Given the description of an element on the screen output the (x, y) to click on. 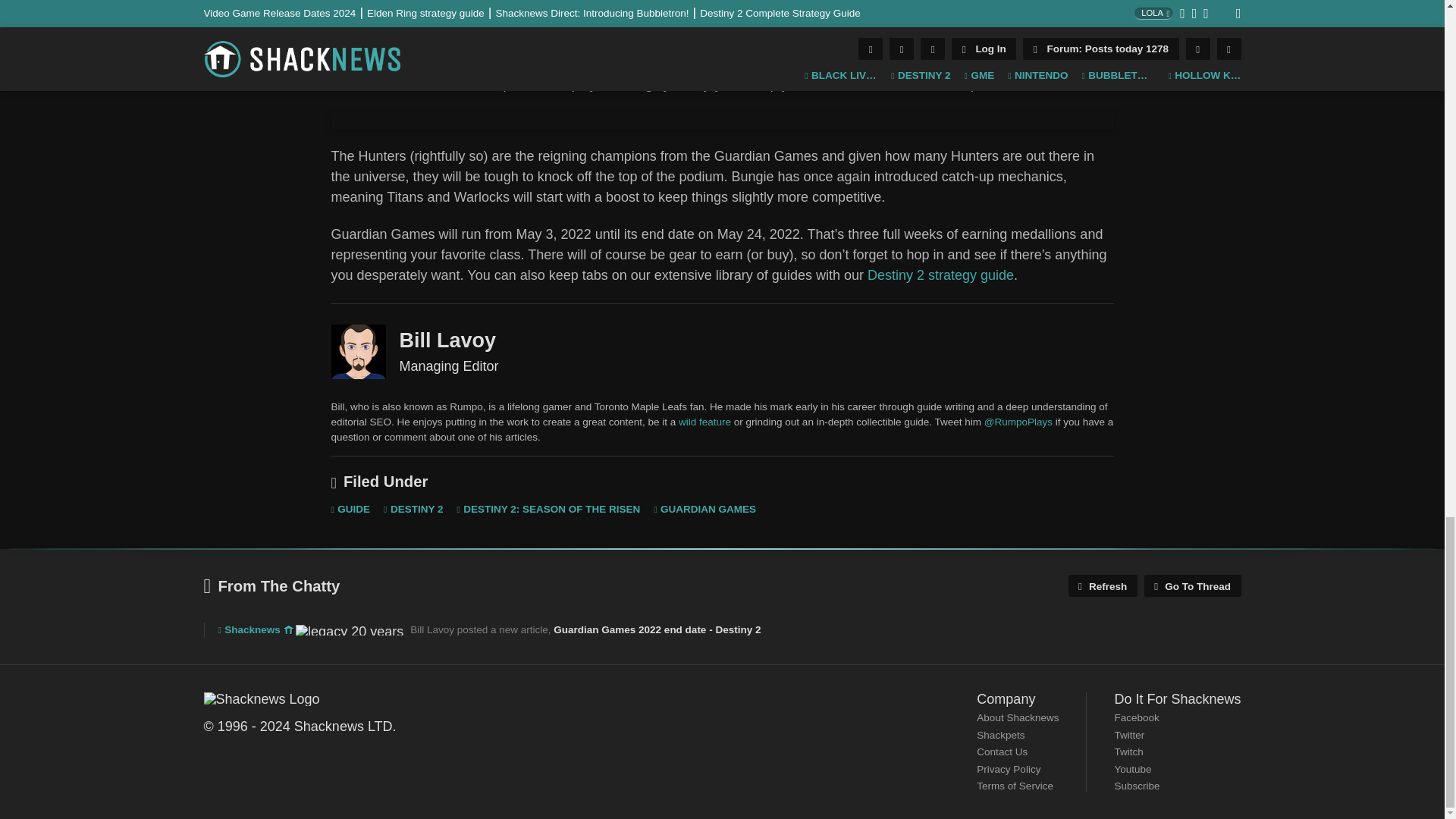
Saving Arthur Morgan (704, 421)
legacy 10 years (288, 629)
YouTube video player (721, 119)
Destiny 2 Strategy Guide (940, 274)
legacy 20 years (349, 629)
Managing Editor (357, 351)
Bill Lavoy on Twitter (1018, 421)
